Given the description of an element on the screen output the (x, y) to click on. 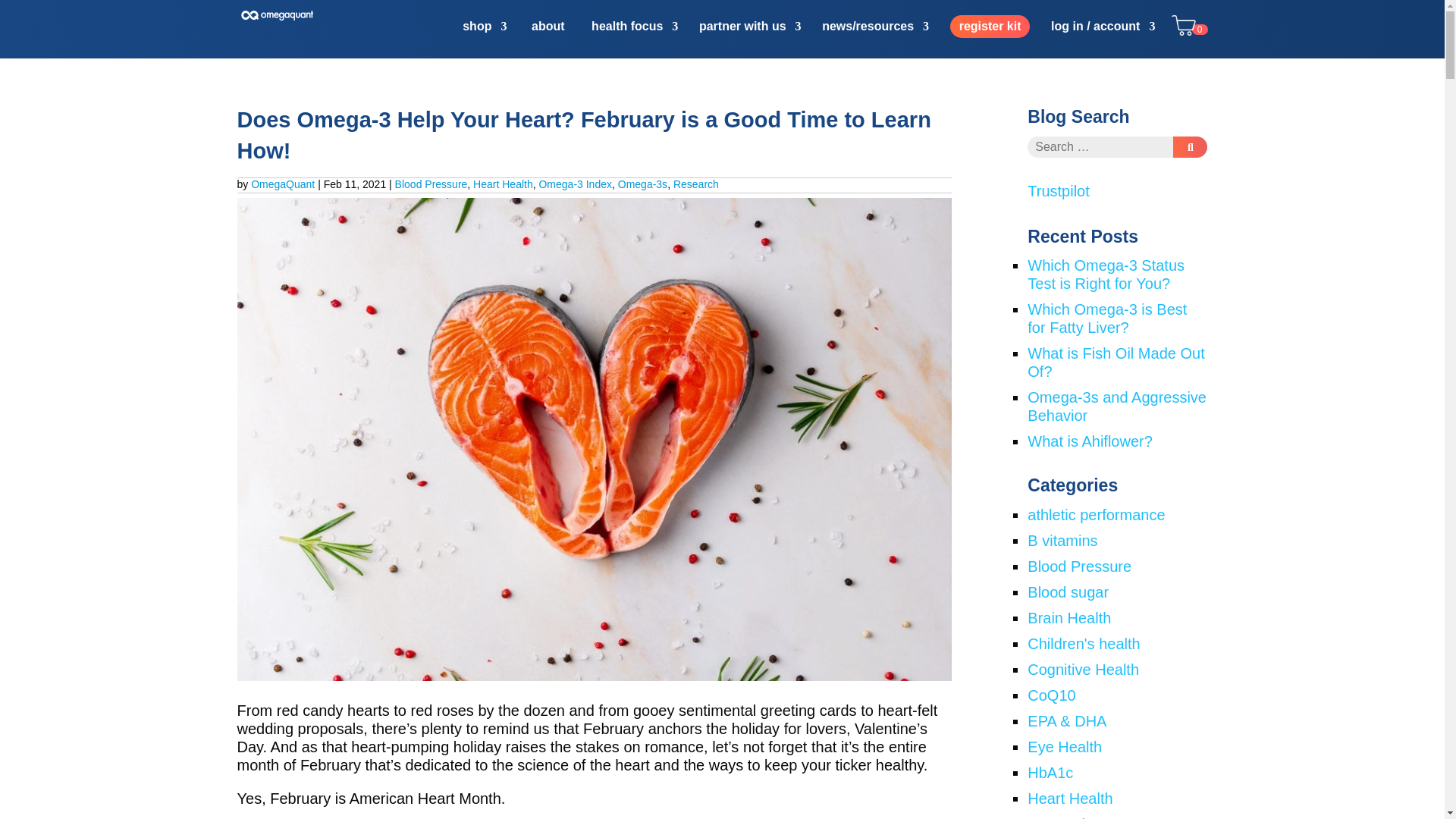
shop (484, 37)
partner with us (750, 37)
about (547, 37)
Posts by OmegaQuant (282, 184)
health focus (634, 37)
